Given the description of an element on the screen output the (x, y) to click on. 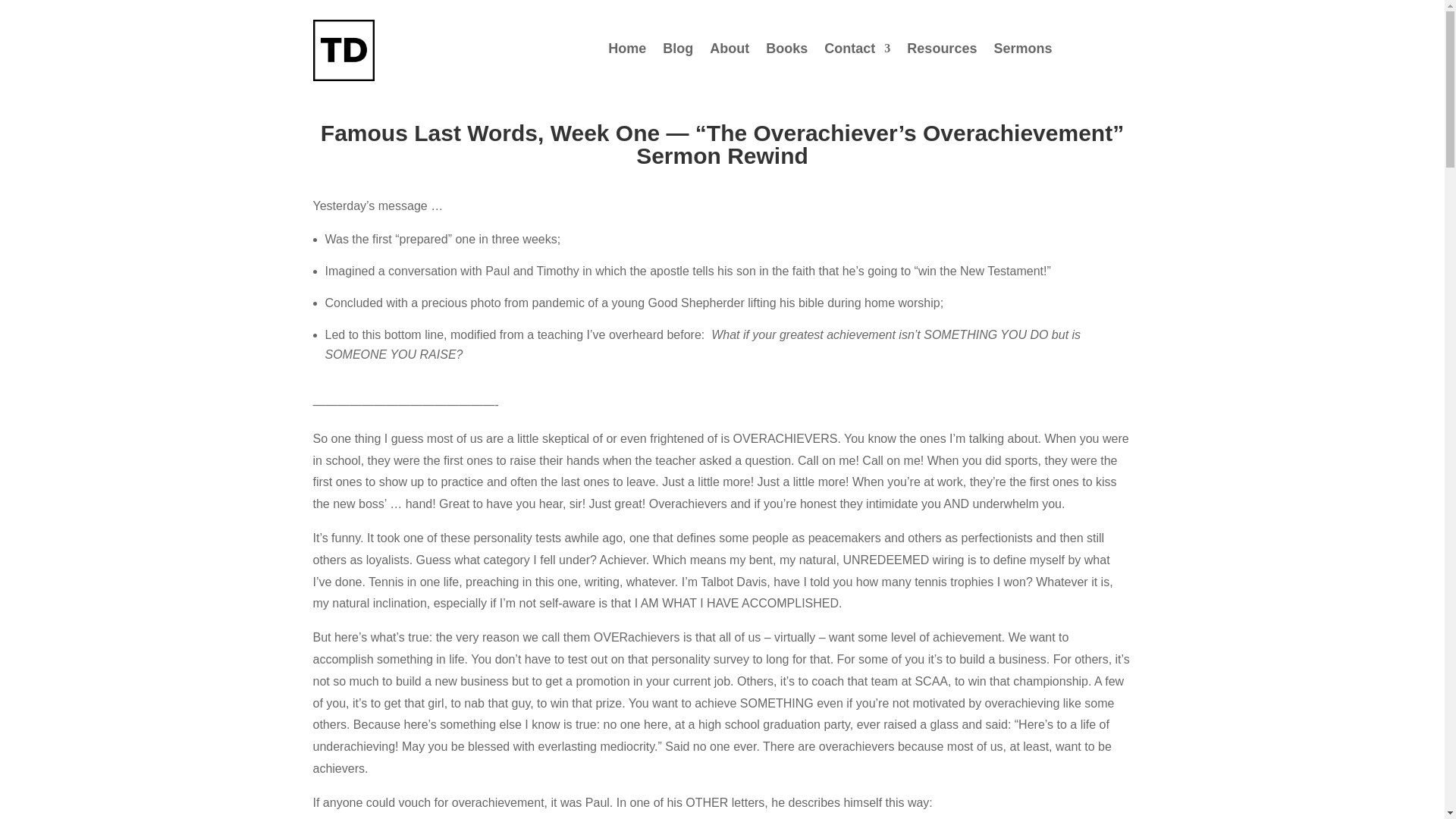
Home (627, 51)
Contact (856, 51)
Sermons (1021, 51)
Blog (677, 51)
Resources (941, 51)
td-logo (343, 50)
About (729, 51)
Books (786, 51)
